Given the description of an element on the screen output the (x, y) to click on. 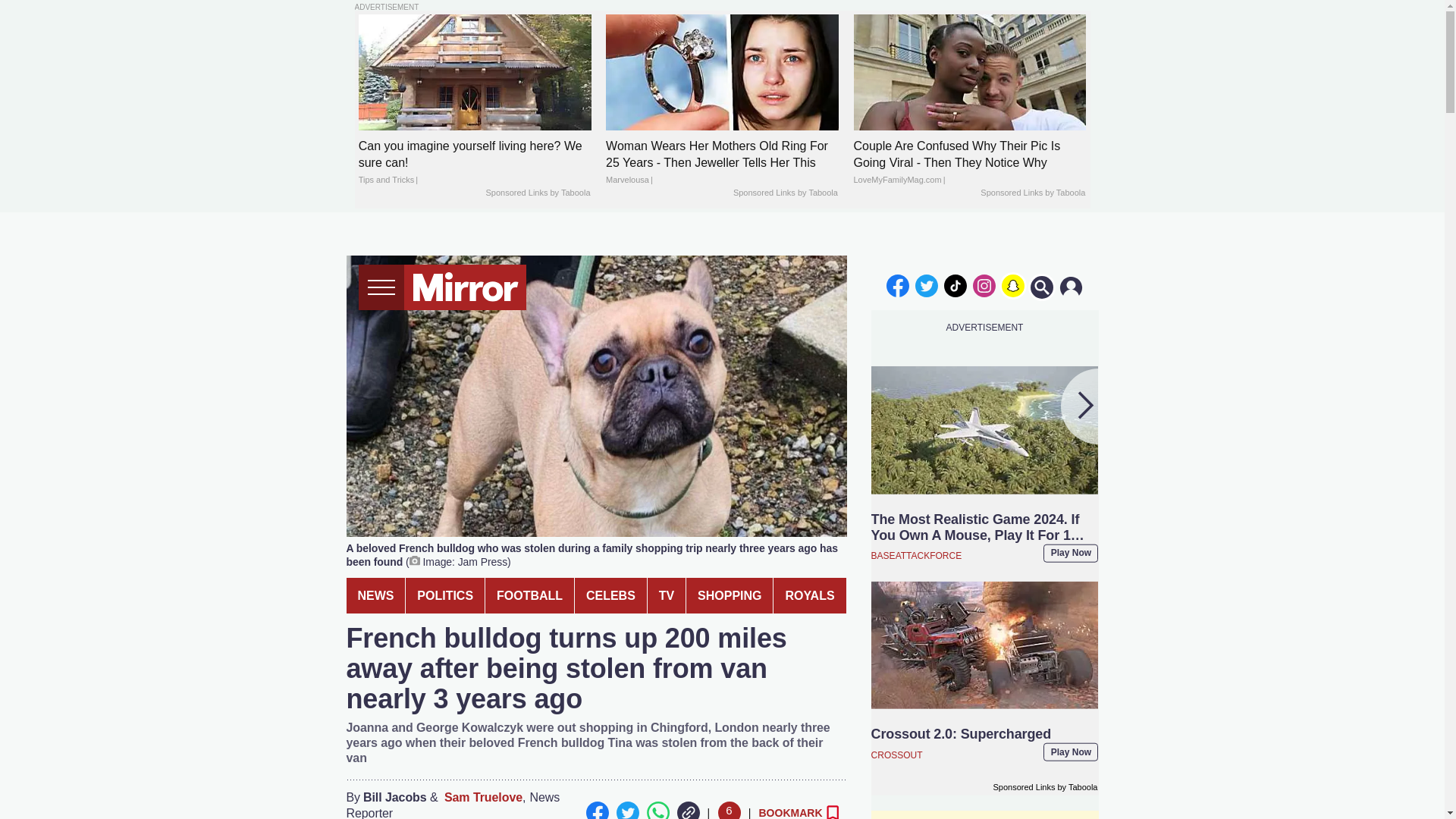
Sponsored Links by Taboola (785, 193)
facebook (897, 285)
Can you imagine yourself living here? We sure can! (474, 72)
Sponsored Links by Taboola (536, 193)
Sponsored Links by Taboola (1031, 193)
Can you imagine yourself living here? We sure can! (474, 163)
